Given the description of an element on the screen output the (x, y) to click on. 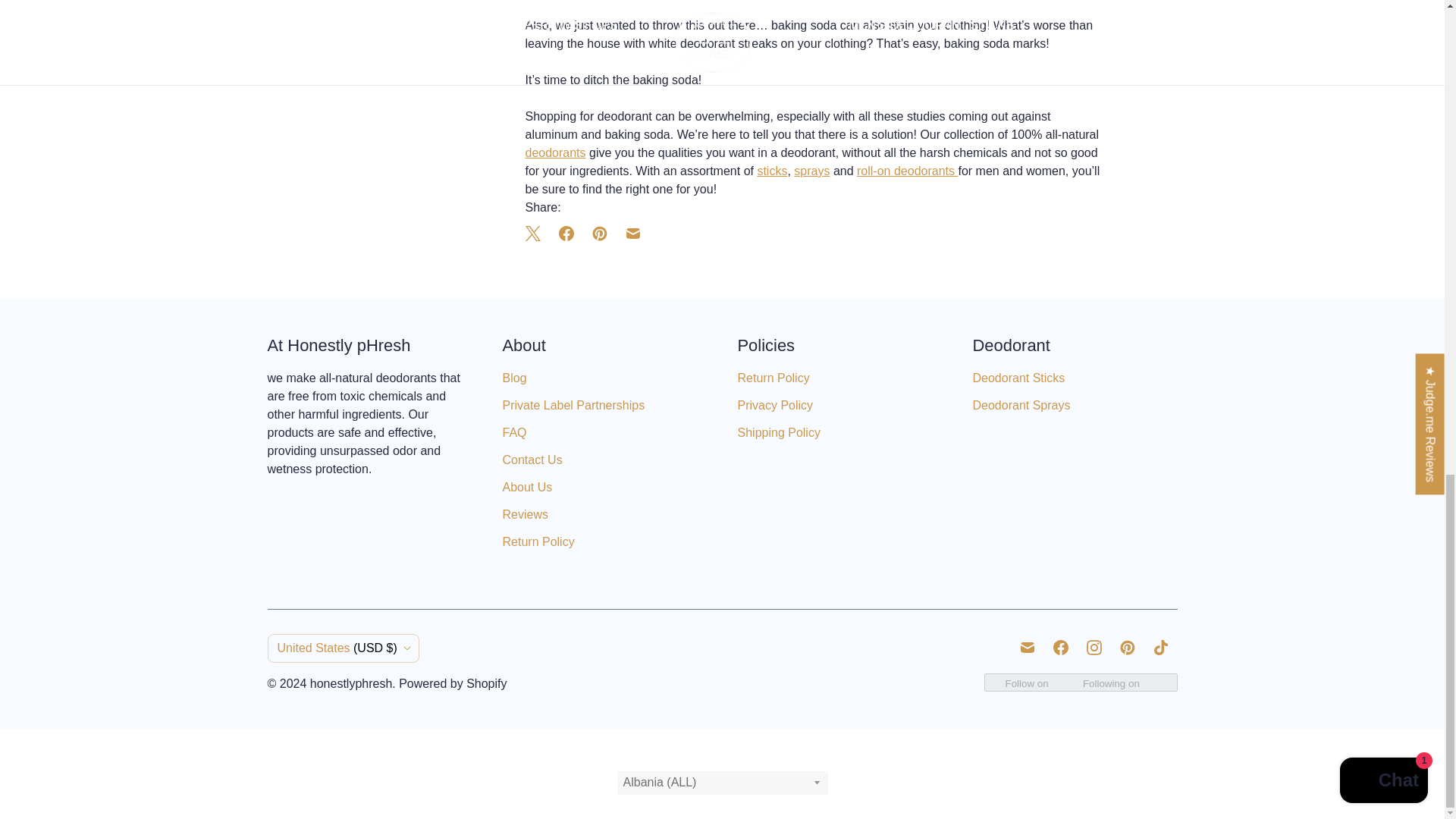
Share this on Pinterest (598, 233)
Share this on Facebook (565, 233)
Email this to a friend (632, 233)
